Given the description of an element on the screen output the (x, y) to click on. 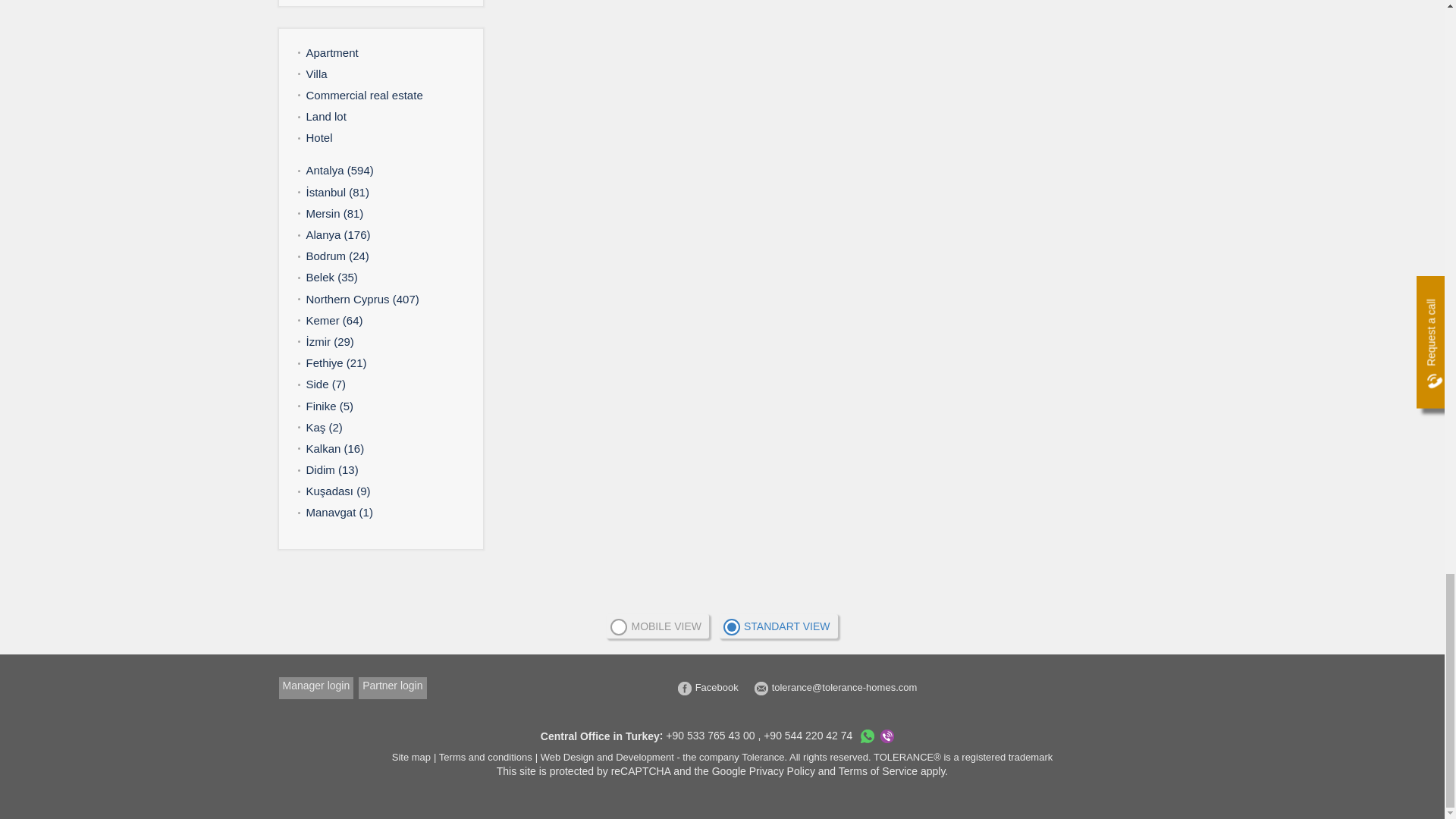
facebook (708, 686)
